Given the description of an element on the screen output the (x, y) to click on. 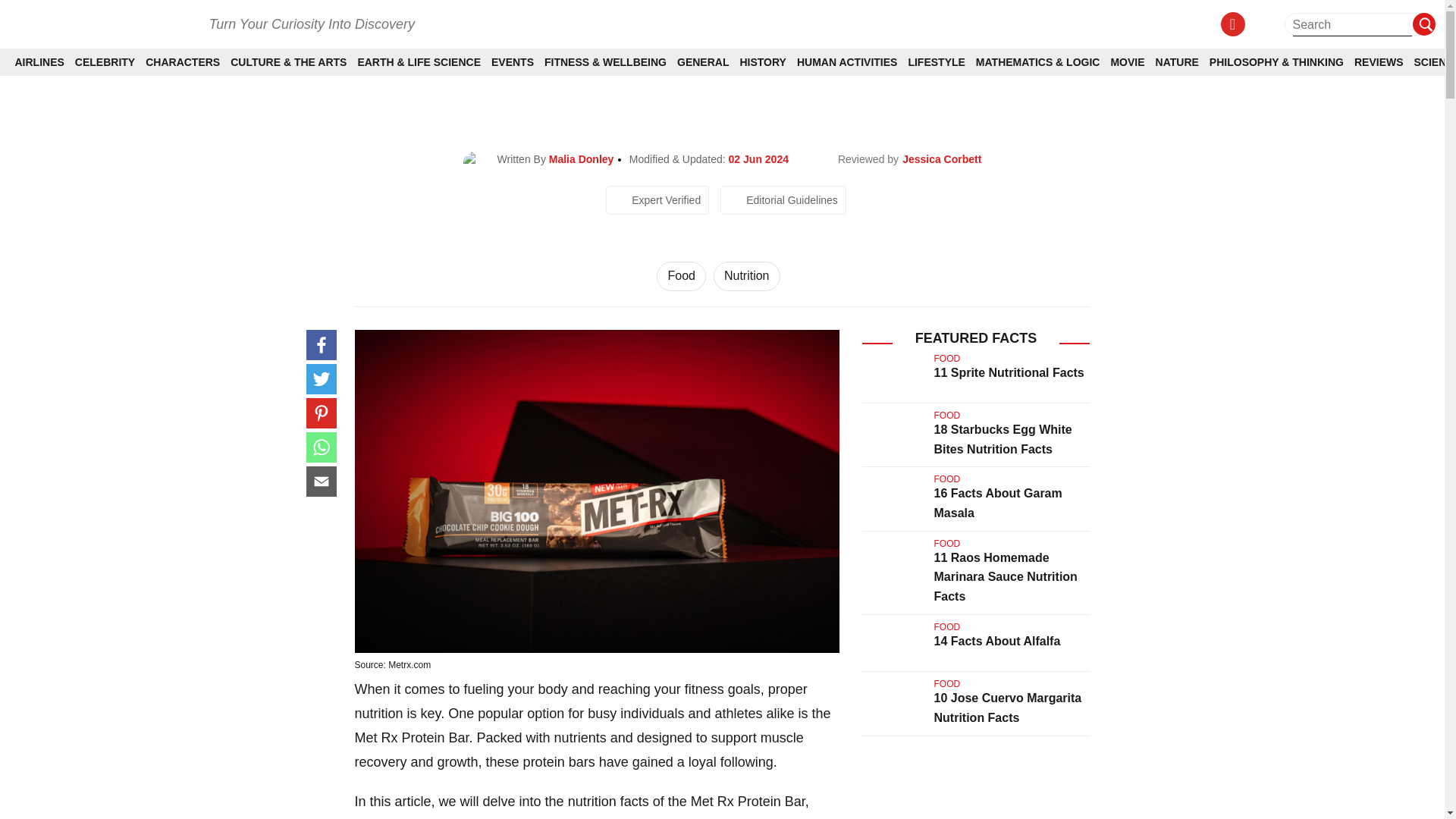
LIFESTYLE (935, 62)
HISTORY (762, 62)
Facts.net (100, 23)
CELEBRITY (105, 62)
GENERAL (703, 62)
CHARACTERS (182, 62)
HUMAN ACTIVITIES (846, 62)
EVENTS (513, 62)
AIRLINES (39, 62)
